Given the description of an element on the screen output the (x, y) to click on. 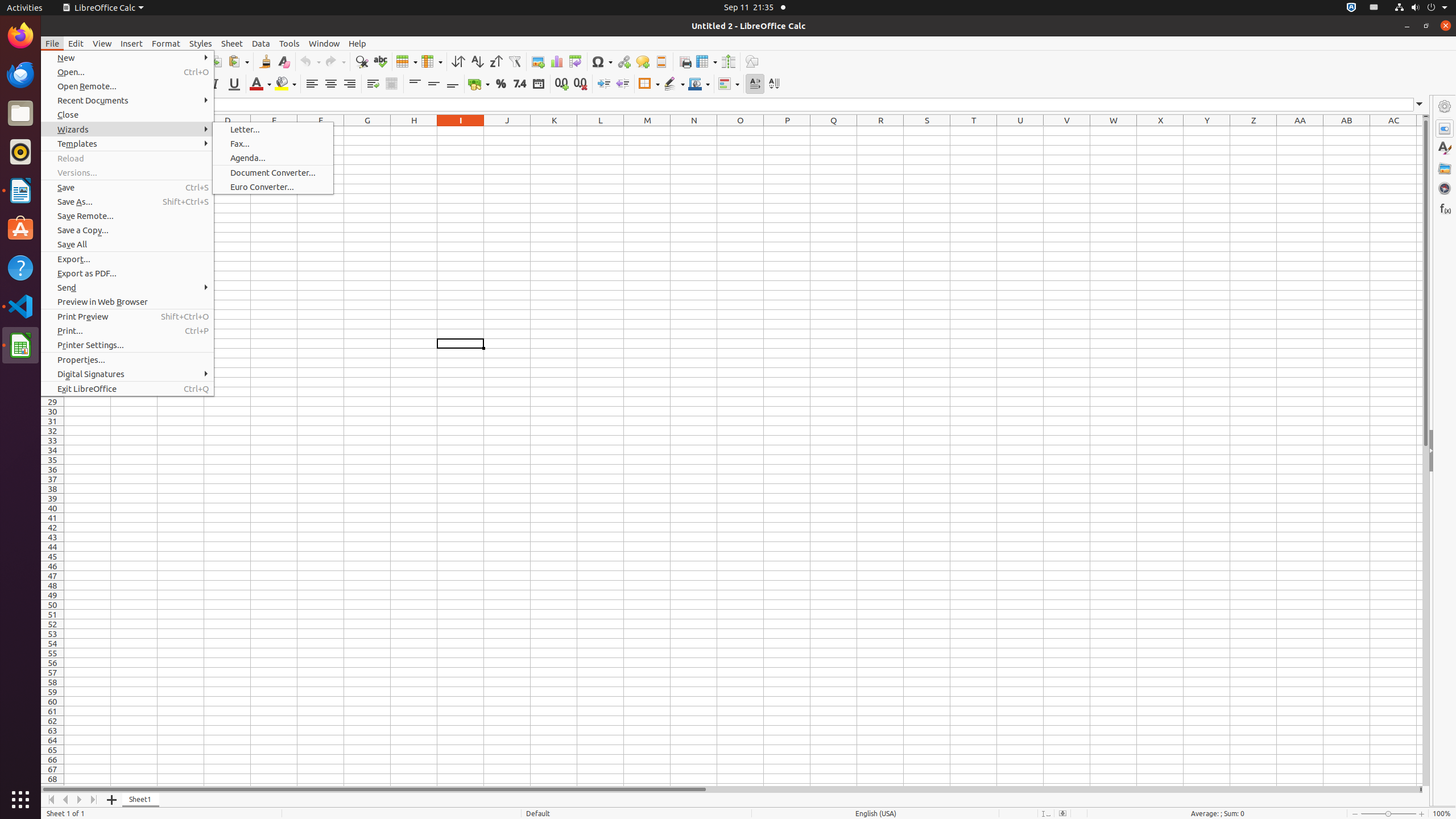
S1 Element type: table-cell (926, 130)
Export... Element type: menu-item (126, 258)
Styles Element type: radio-button (1444, 148)
Save Element type: menu-item (126, 187)
Versions... Element type: menu-item (126, 172)
